Given the description of an element on the screen output the (x, y) to click on. 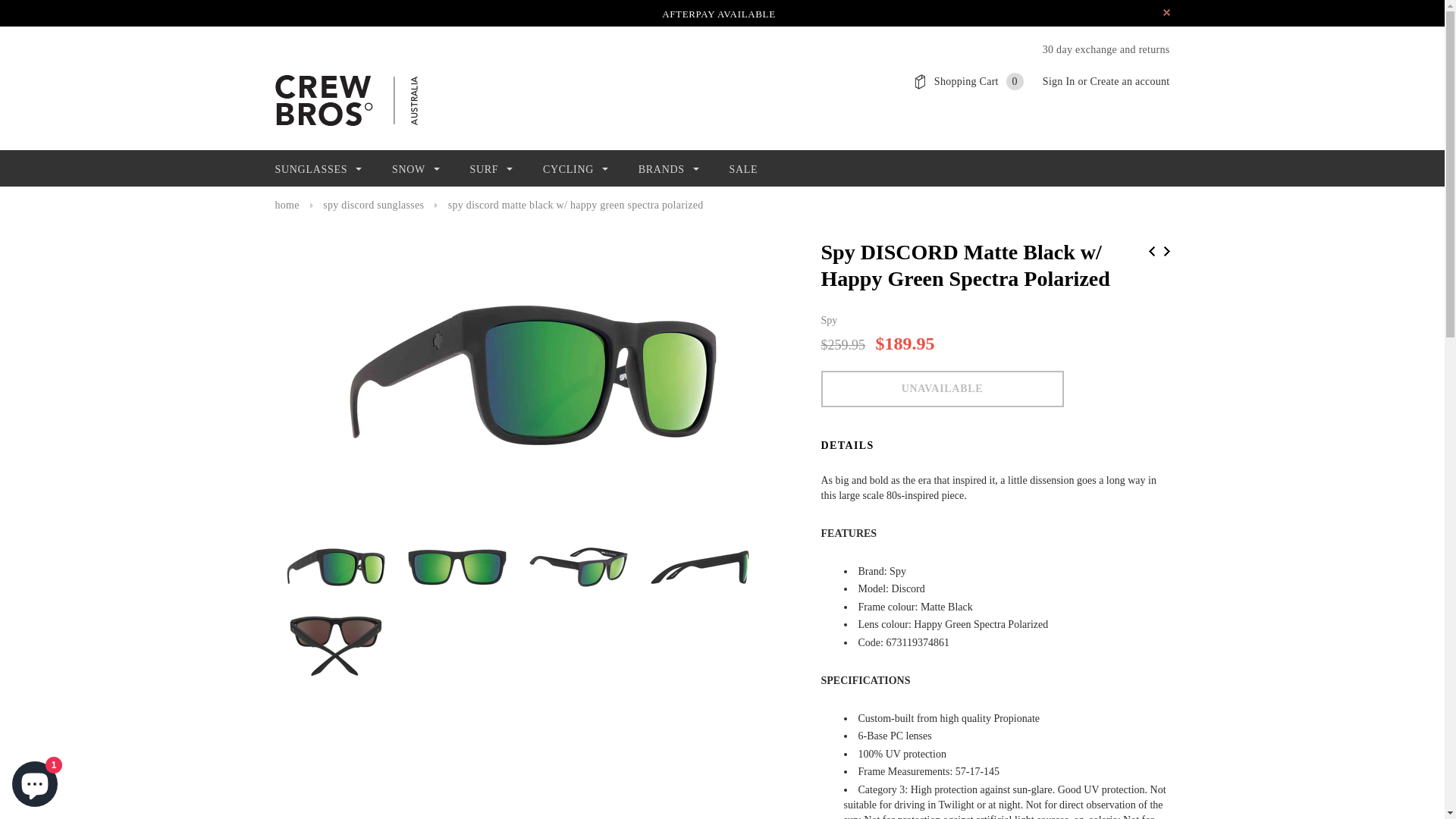
BRANDS Element type: text (668, 169)
Shopify online store chat Element type: hover (34, 780)
PREVIOUS PRODUCT Element type: text (1151, 251)
SURF Element type: text (490, 169)
Create an account Element type: text (1129, 81)
Sign In Element type: text (1058, 81)
SUNGLASSES Element type: text (317, 169)
Unavailable Element type: text (941, 388)
SALE Element type: text (742, 169)
NEXT PRODUCT Element type: text (1166, 251)
CLOSE Element type: text (1166, 12)
home Element type: text (286, 204)
SNOW Element type: text (415, 169)
DETAILS Element type: text (846, 445)
Shopping Cart 0 Element type: text (978, 81)
CYCLING Element type: text (575, 169)
spy discord sunglasses Element type: text (373, 204)
